Given the description of an element on the screen output the (x, y) to click on. 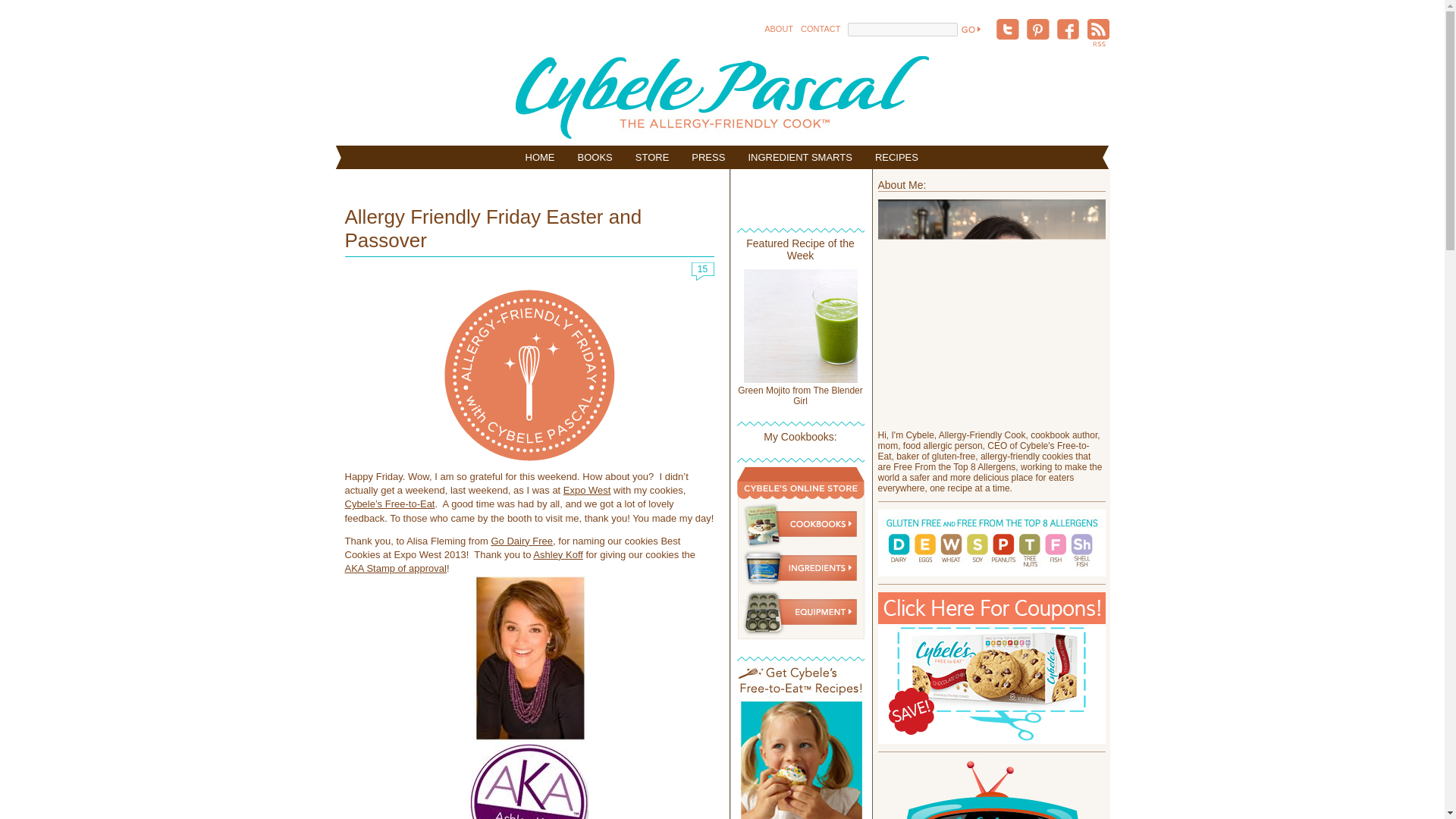
Expo West (587, 490)
INGREDIENT SMARTS (799, 156)
sidebar-online-store (800, 635)
Cybele TV (991, 789)
RECIPES (896, 156)
TWITTER (1007, 29)
PINTEREST (1037, 29)
Ashley Koff (557, 554)
cybeles free to eat cookies coupons (991, 667)
AKA Stamp of approval (394, 568)
Search (969, 29)
Go Dairy Free (521, 541)
Allergy Friendly Friday Easter and Passover (492, 230)
15 (702, 274)
CONTACT (820, 28)
